Given the description of an element on the screen output the (x, y) to click on. 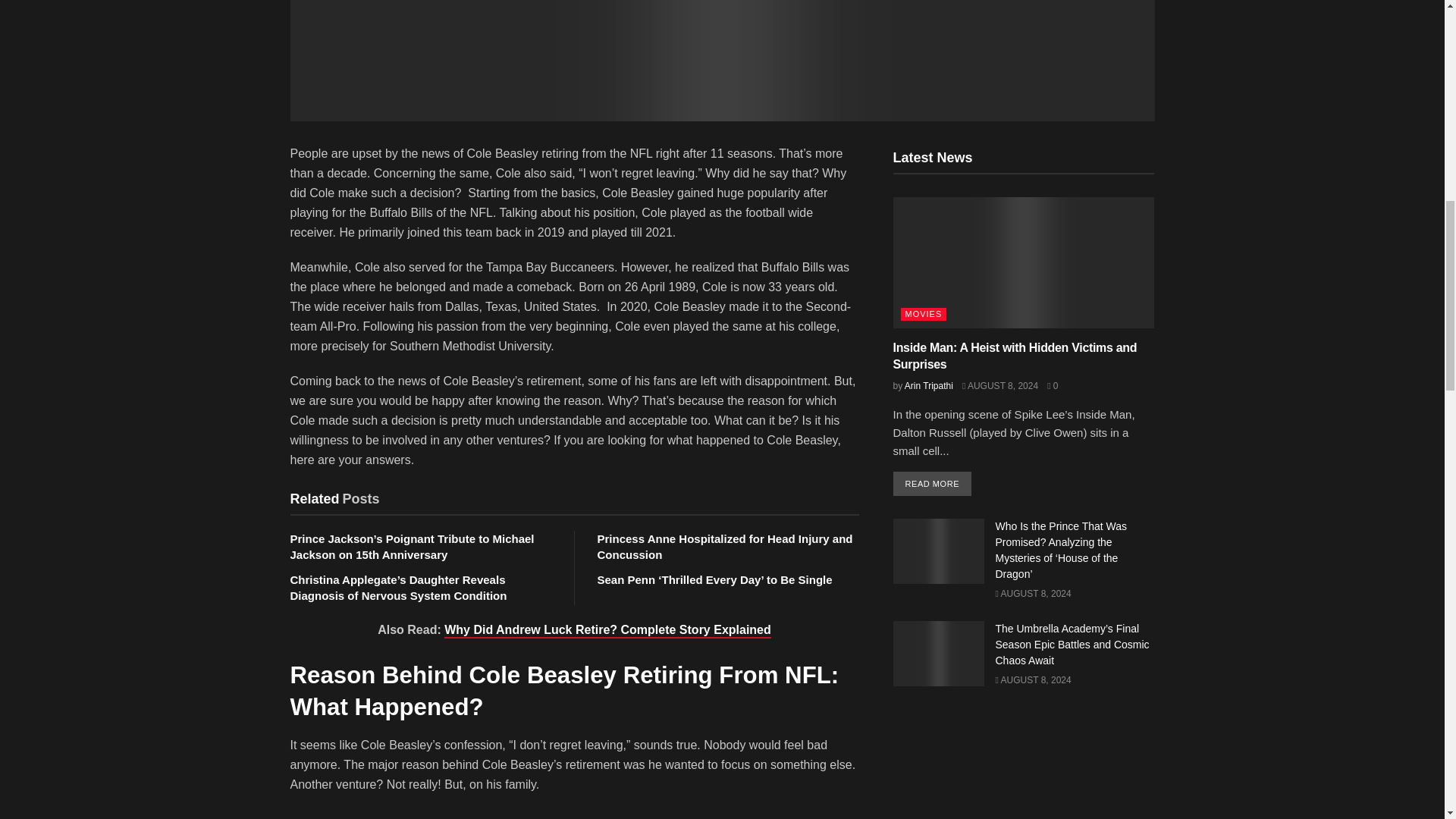
Princess Anne Hospitalized for Head Injury and Concussion (724, 546)
MOVIES (924, 314)
Why Did Andrew Luck Retire? Complete Story Explained (607, 630)
